Given the description of an element on the screen output the (x, y) to click on. 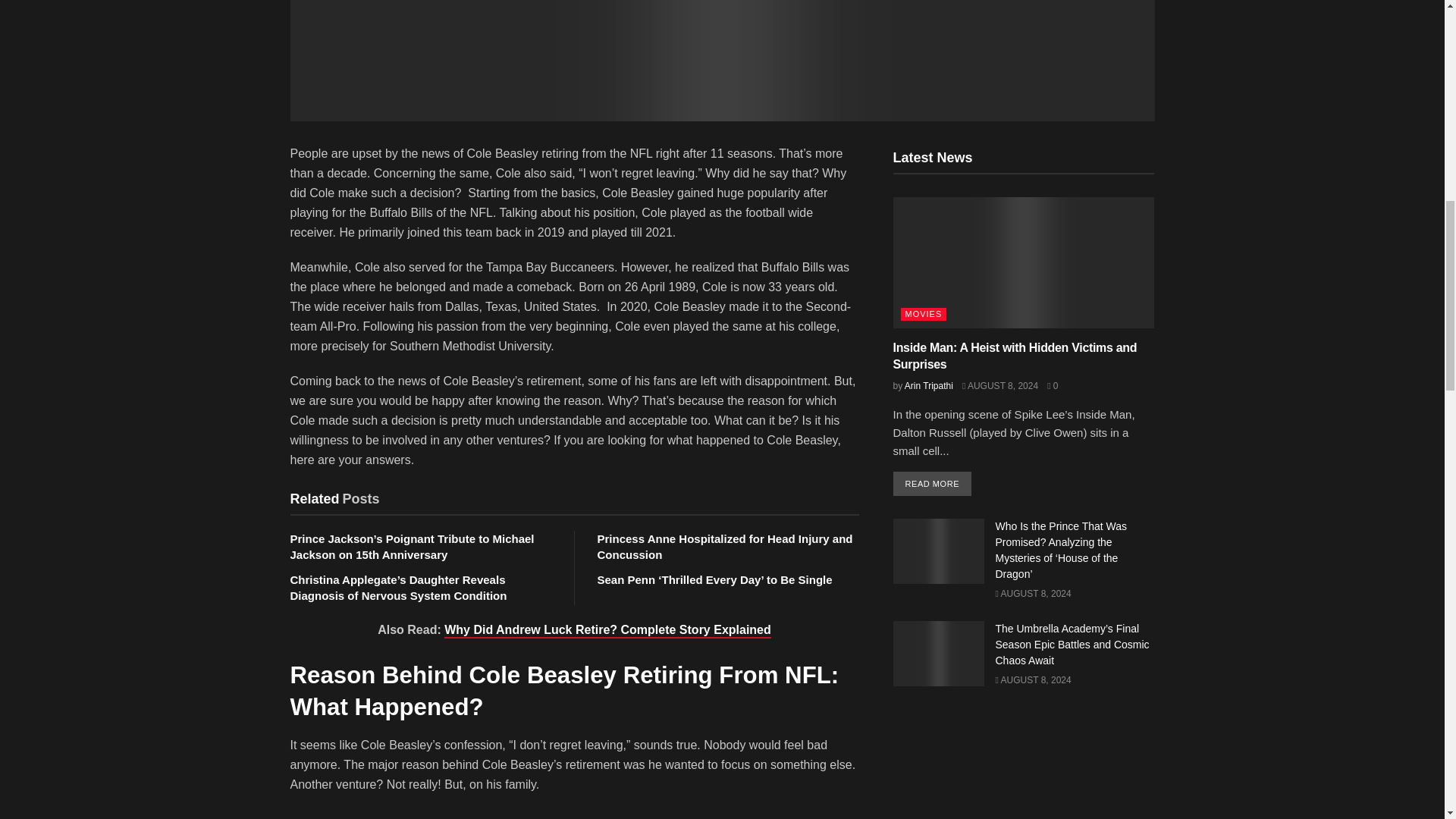
Princess Anne Hospitalized for Head Injury and Concussion (724, 546)
MOVIES (924, 314)
Why Did Andrew Luck Retire? Complete Story Explained (607, 630)
